Given the description of an element on the screen output the (x, y) to click on. 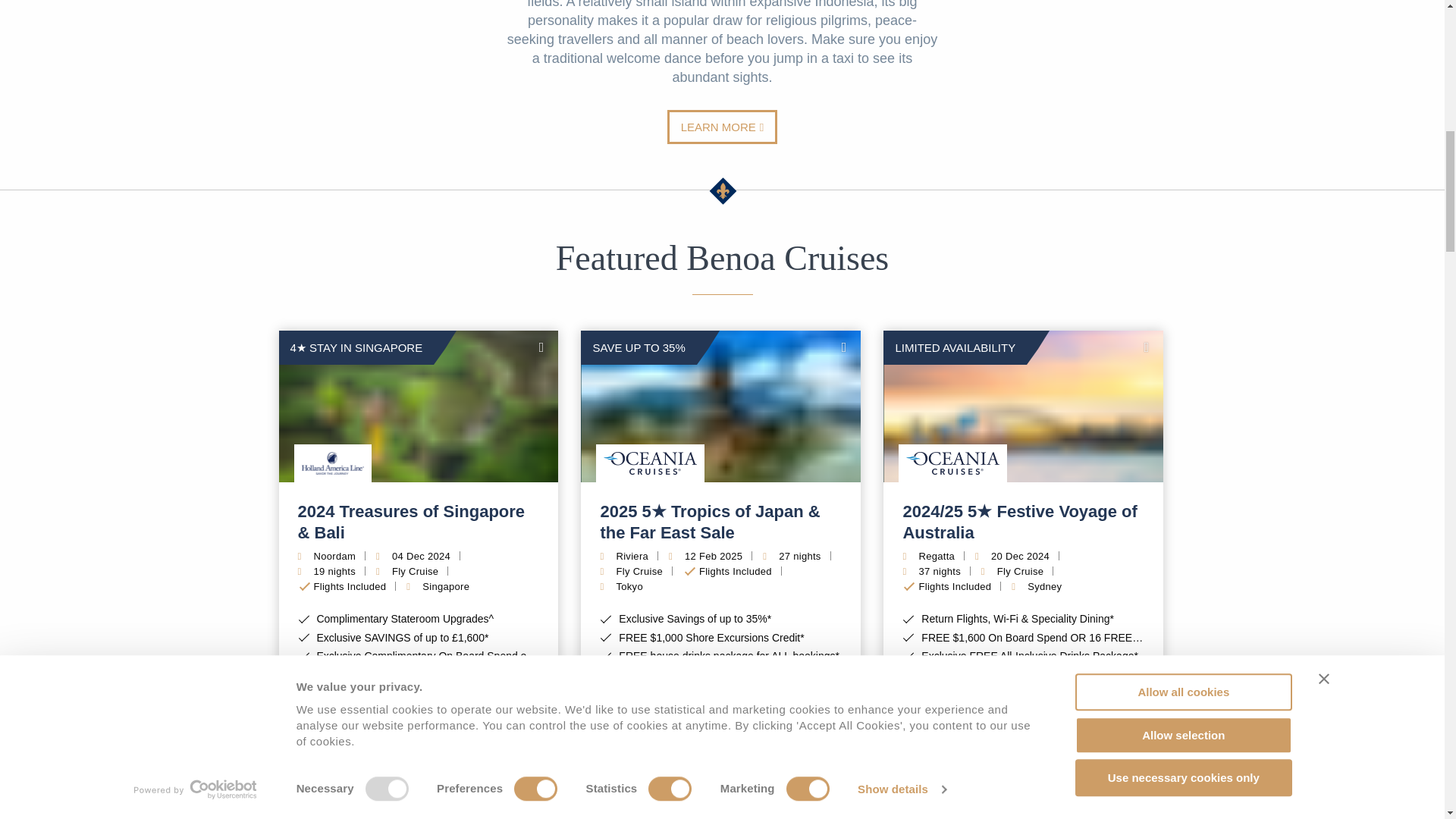
View Holland America Line (333, 463)
